Given the description of an element on the screen output the (x, y) to click on. 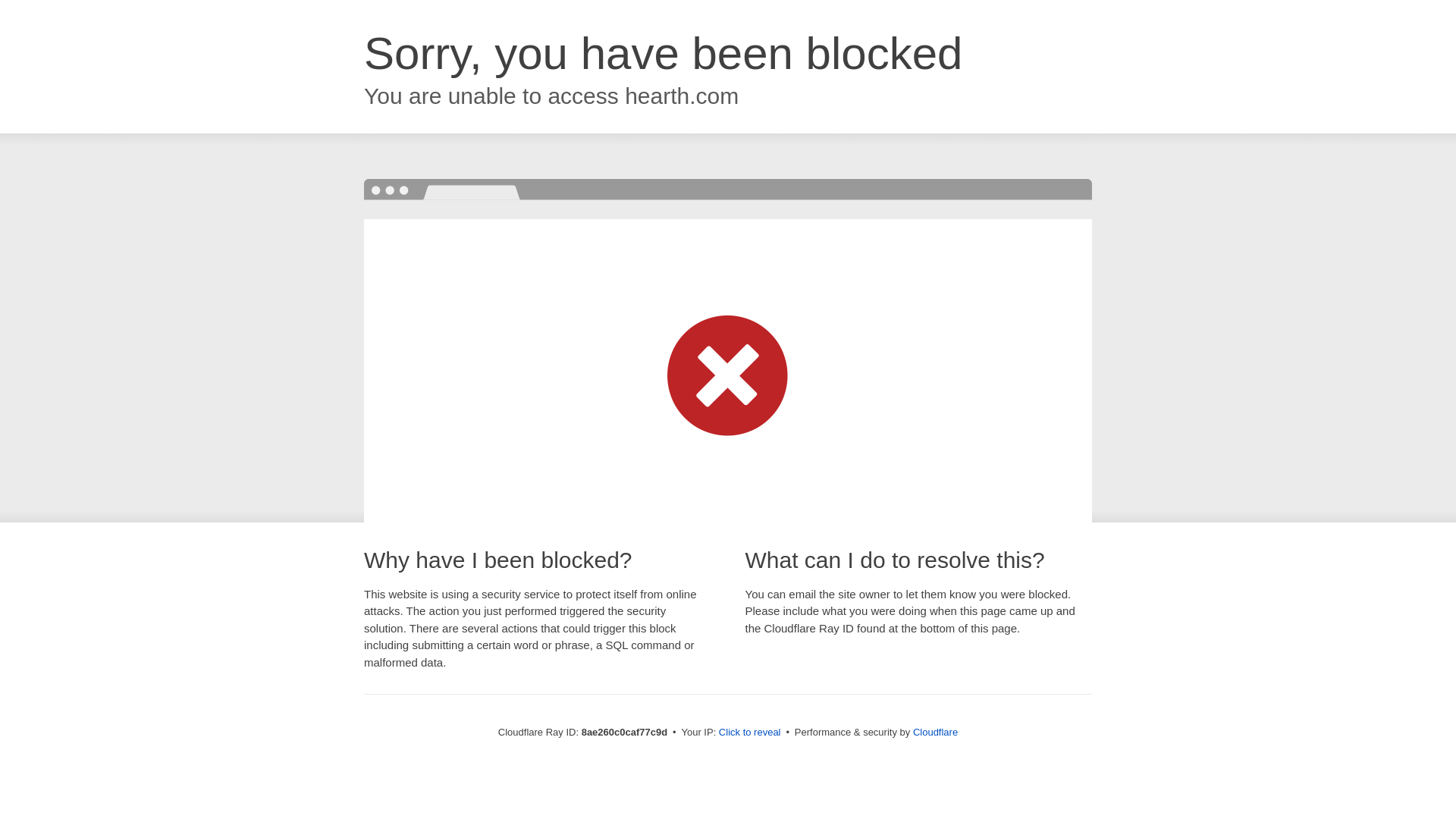
Cloudflare (935, 731)
Click to reveal (749, 732)
